Given the description of an element on the screen output the (x, y) to click on. 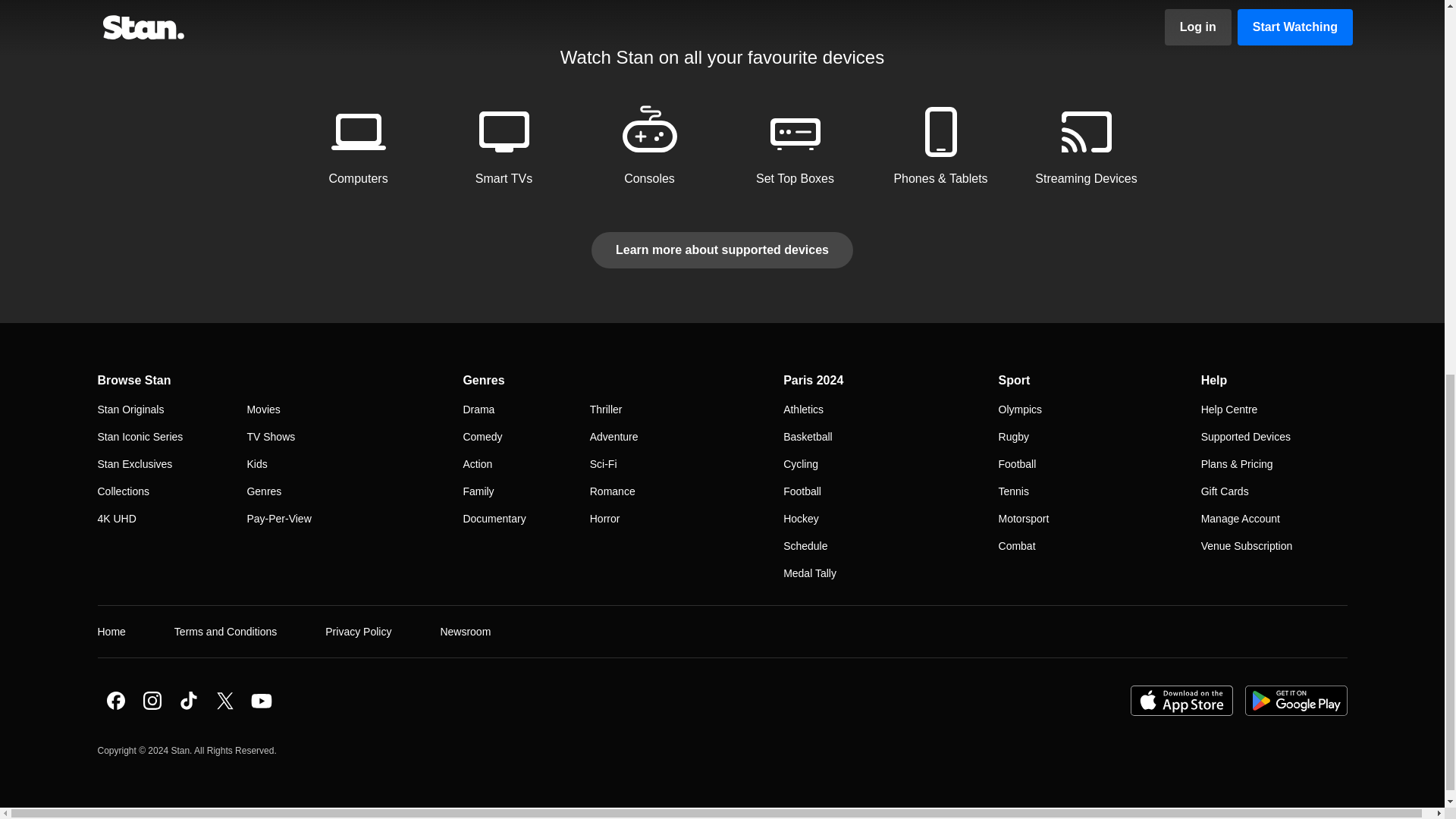
Browse Stan (133, 379)
Stan Exclusives (134, 463)
Movies (262, 408)
Learn more about supported devices (722, 248)
Stan Originals (130, 408)
4K UHD (116, 517)
Stan Iconic Series (140, 435)
Collections (122, 490)
